Given the description of an element on the screen output the (x, y) to click on. 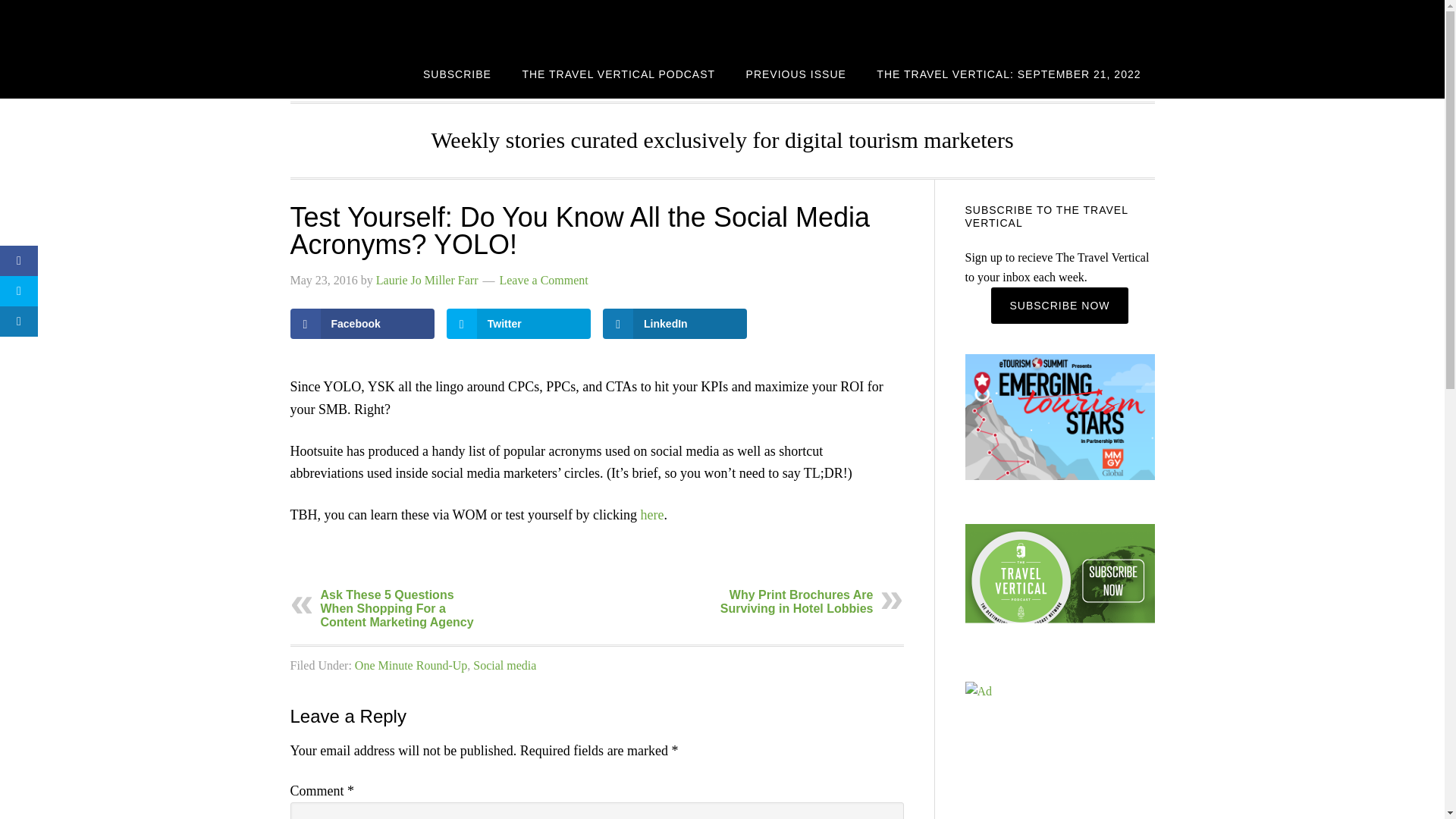
One Minute Round-Up (411, 665)
SUBSCRIBE (457, 73)
Why Print Brochures Are Surviving in Hotel Lobbies (796, 601)
Subscribe Now (1058, 305)
PREVIOUS ISSUE (796, 73)
here (651, 514)
Subscribe Now (1058, 305)
THE TRAVEL VERTICAL: SEPTEMBER 21, 2022 (1008, 73)
Facebook (361, 323)
